Given the description of an element on the screen output the (x, y) to click on. 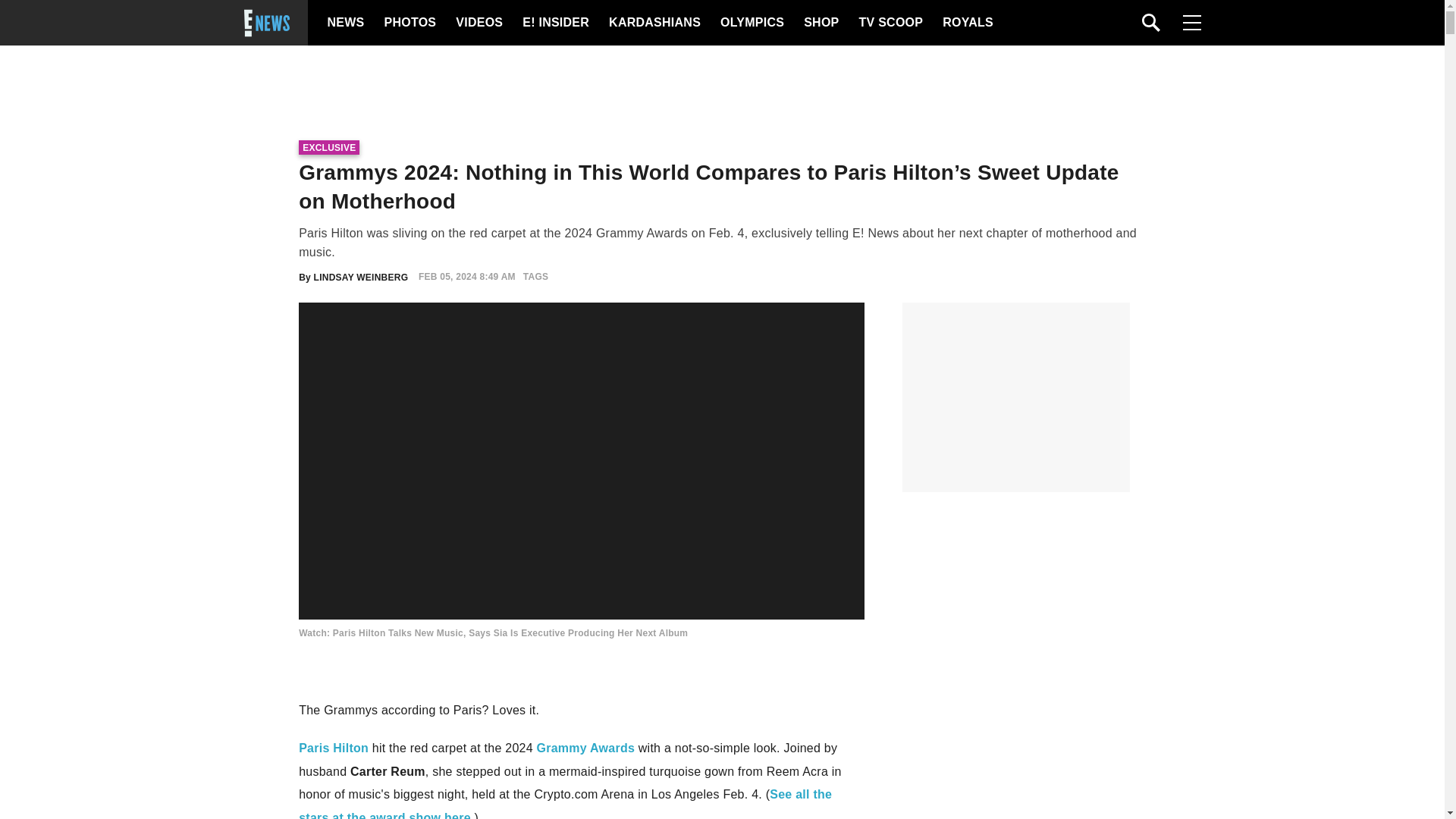
See all the stars at the award show here (564, 803)
SHOP (820, 22)
LINDSAY WEINBERG (361, 276)
TV SCOOP (890, 22)
OLYMPICS (751, 22)
VIDEOS (478, 22)
KARDASHIANS (653, 22)
ROYALS (966, 22)
E! INSIDER (555, 22)
Paris Hilton (333, 748)
Grammy Awards (585, 748)
NEWS (345, 22)
PHOTOS (408, 22)
